Given the description of an element on the screen output the (x, y) to click on. 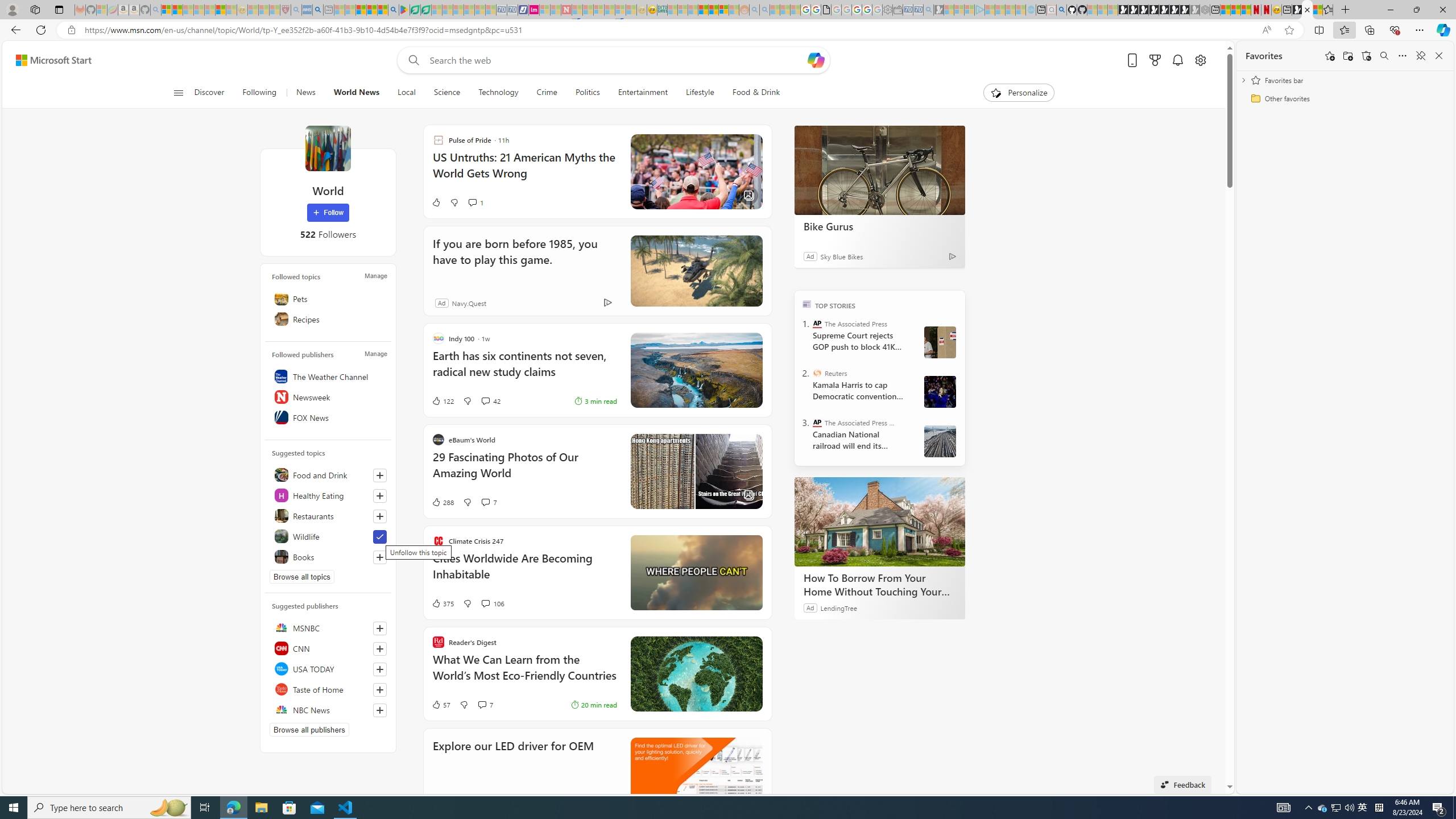
Taste of Home (327, 688)
View comments 7 Comment (485, 704)
Add this page to favorites (1330, 55)
World (327, 148)
Restaurants (327, 515)
